Given the description of an element on the screen output the (x, y) to click on. 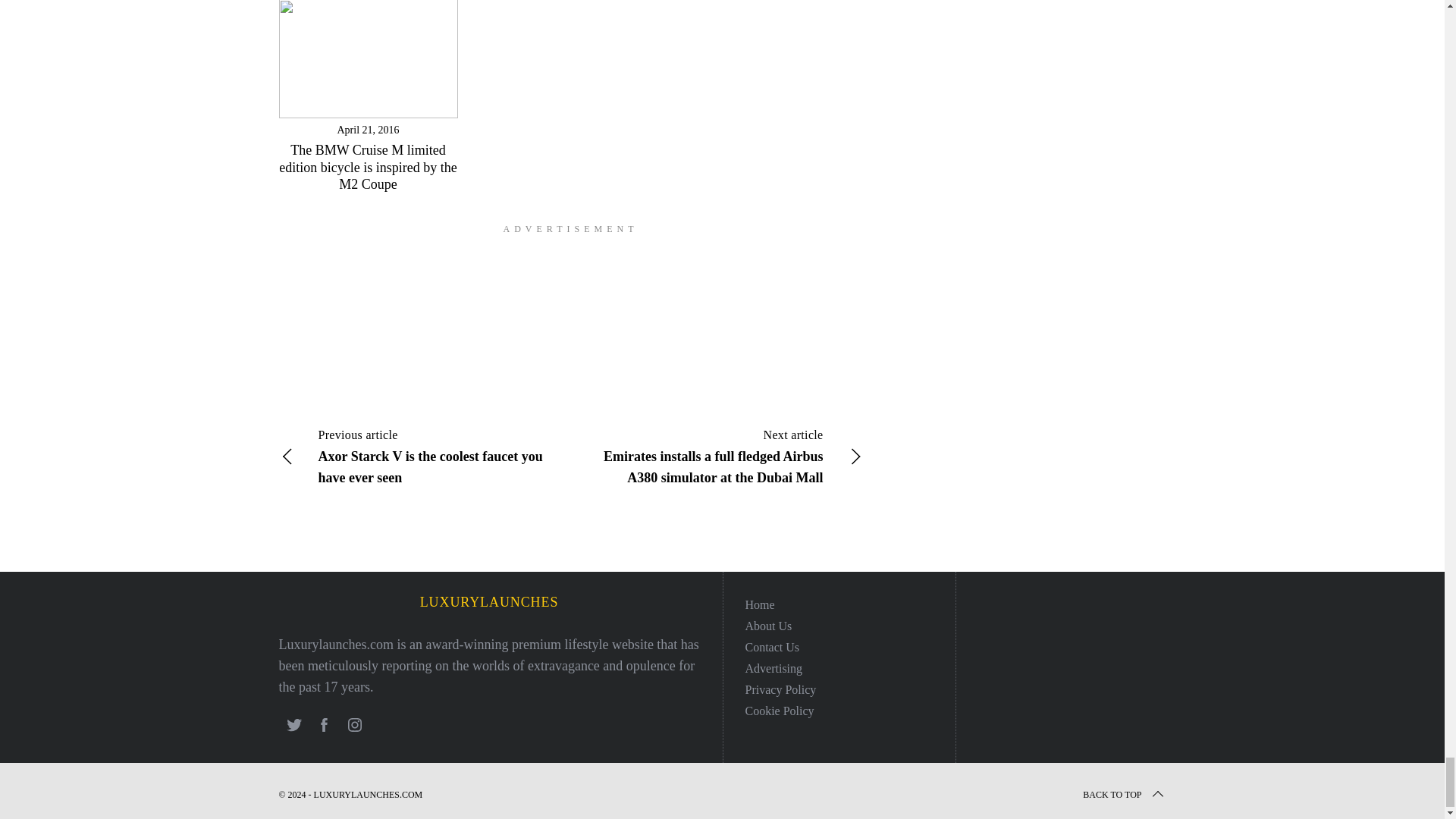
About Us (768, 625)
Contact us (771, 646)
Advertising (773, 667)
Cookie Policy (778, 710)
Home (759, 604)
Privacy Policy (779, 689)
